Given the description of an element on the screen output the (x, y) to click on. 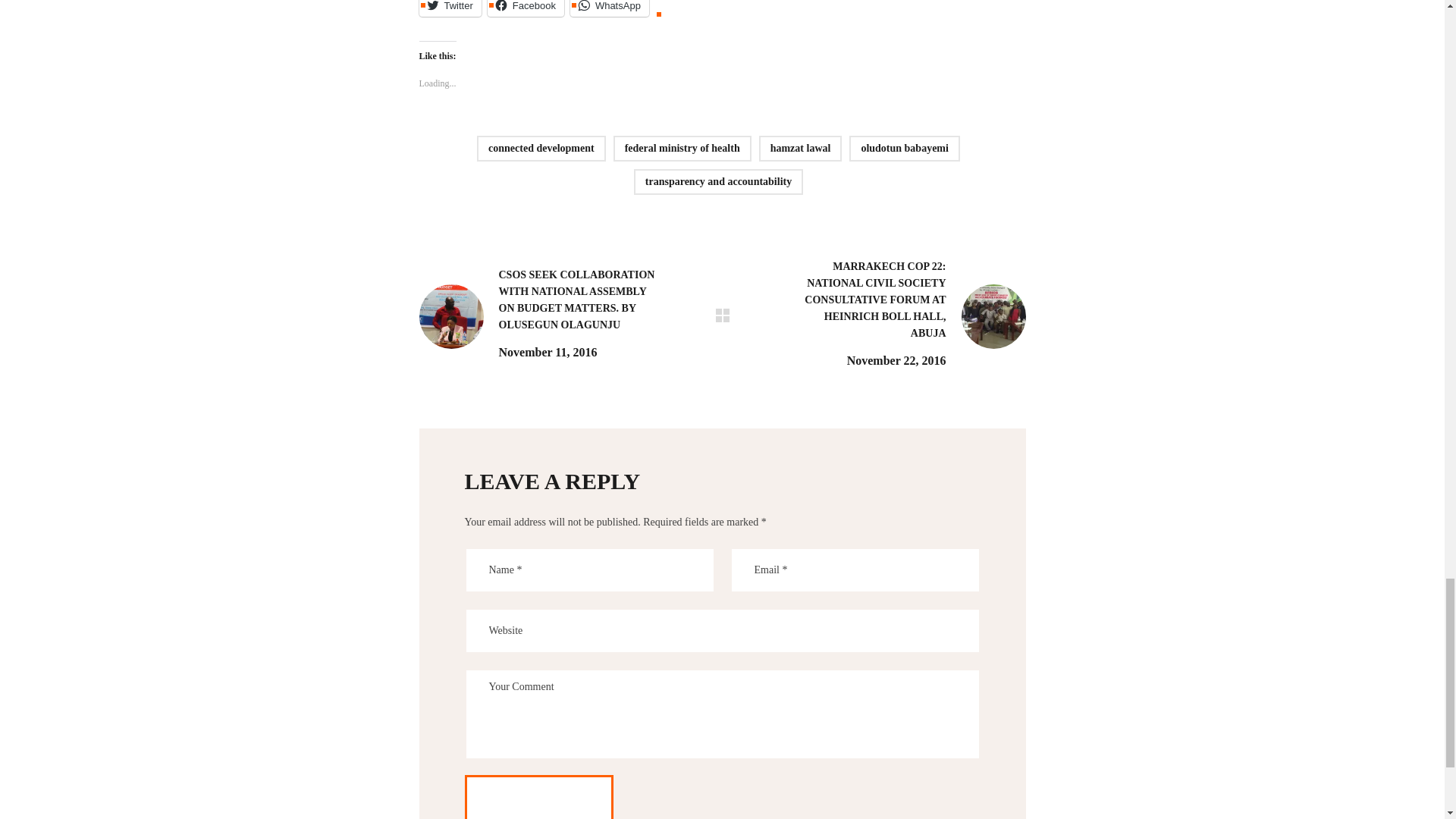
Post Comment (538, 796)
Click to share on WhatsApp (609, 8)
Website (721, 630)
Click to share on Facebook (525, 8)
Click to share on Twitter (449, 8)
